Given the description of an element on the screen output the (x, y) to click on. 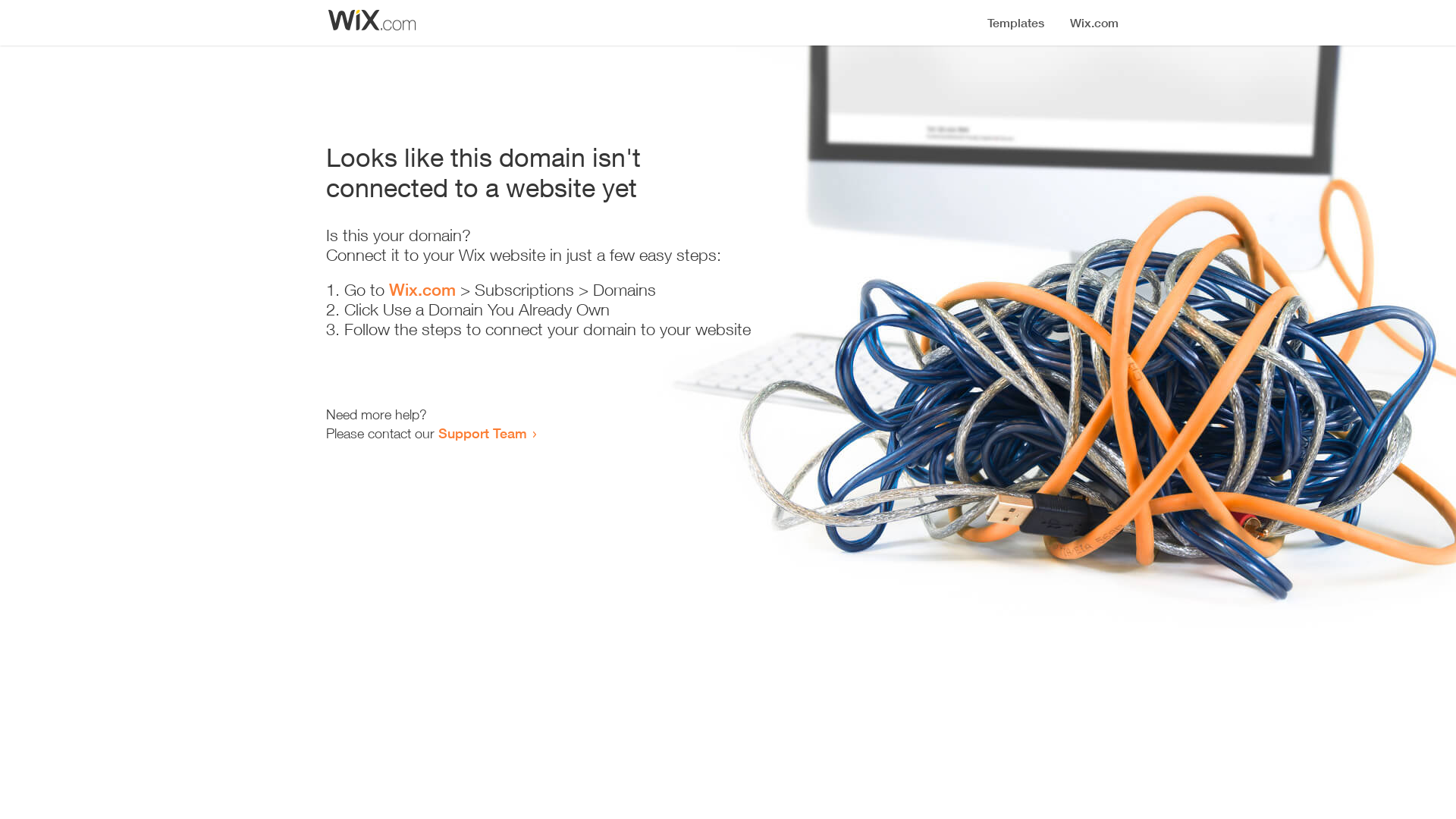
Support Team Element type: text (482, 432)
Wix.com Element type: text (422, 289)
